Given the description of an element on the screen output the (x, y) to click on. 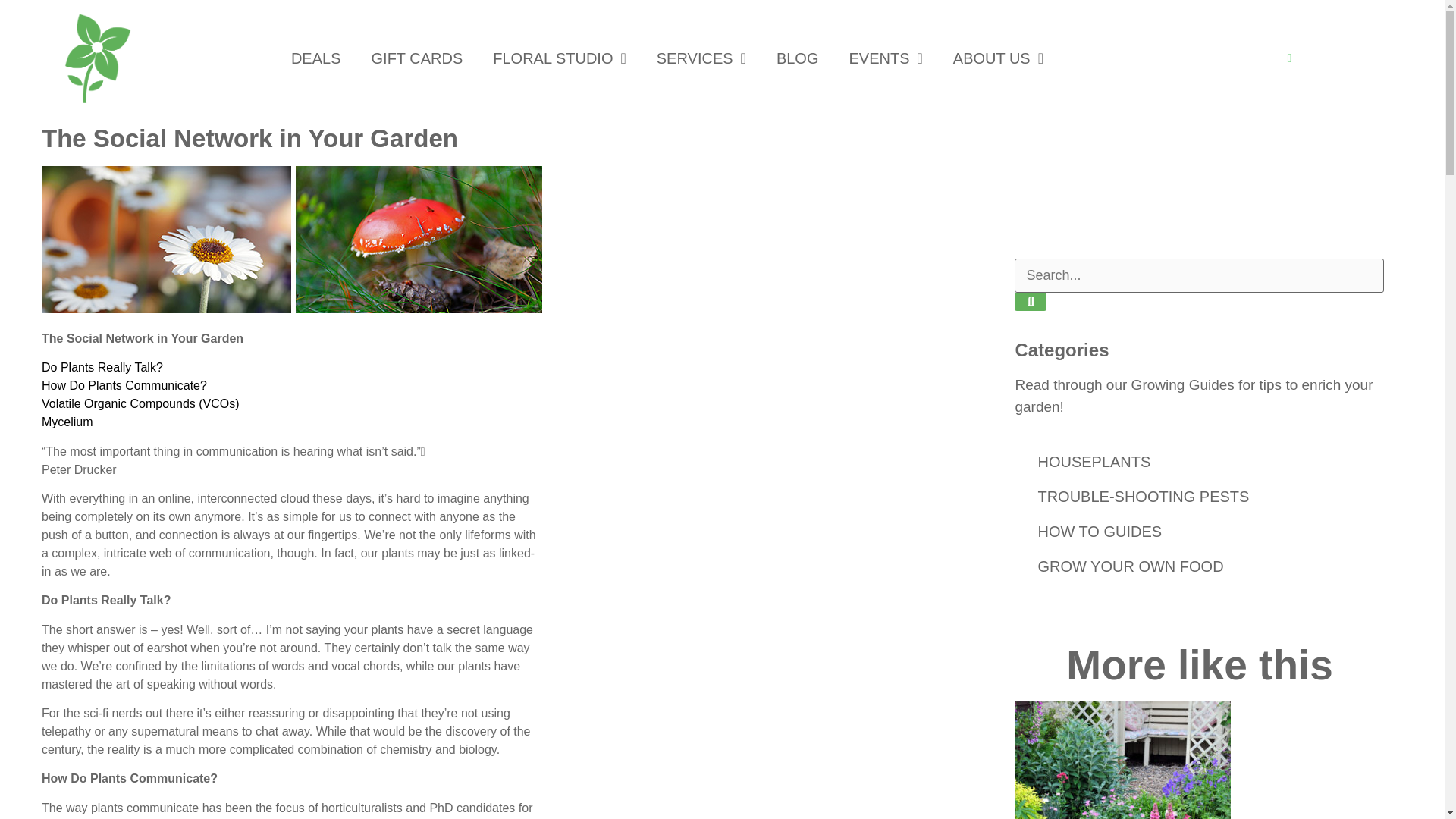
GIFT CARDS (417, 58)
EVENTS (884, 58)
SERVICES (701, 58)
DEALS (316, 58)
ABOUT US (997, 58)
FLORAL STUDIO (559, 58)
BLOG (797, 58)
